Given the description of an element on the screen output the (x, y) to click on. 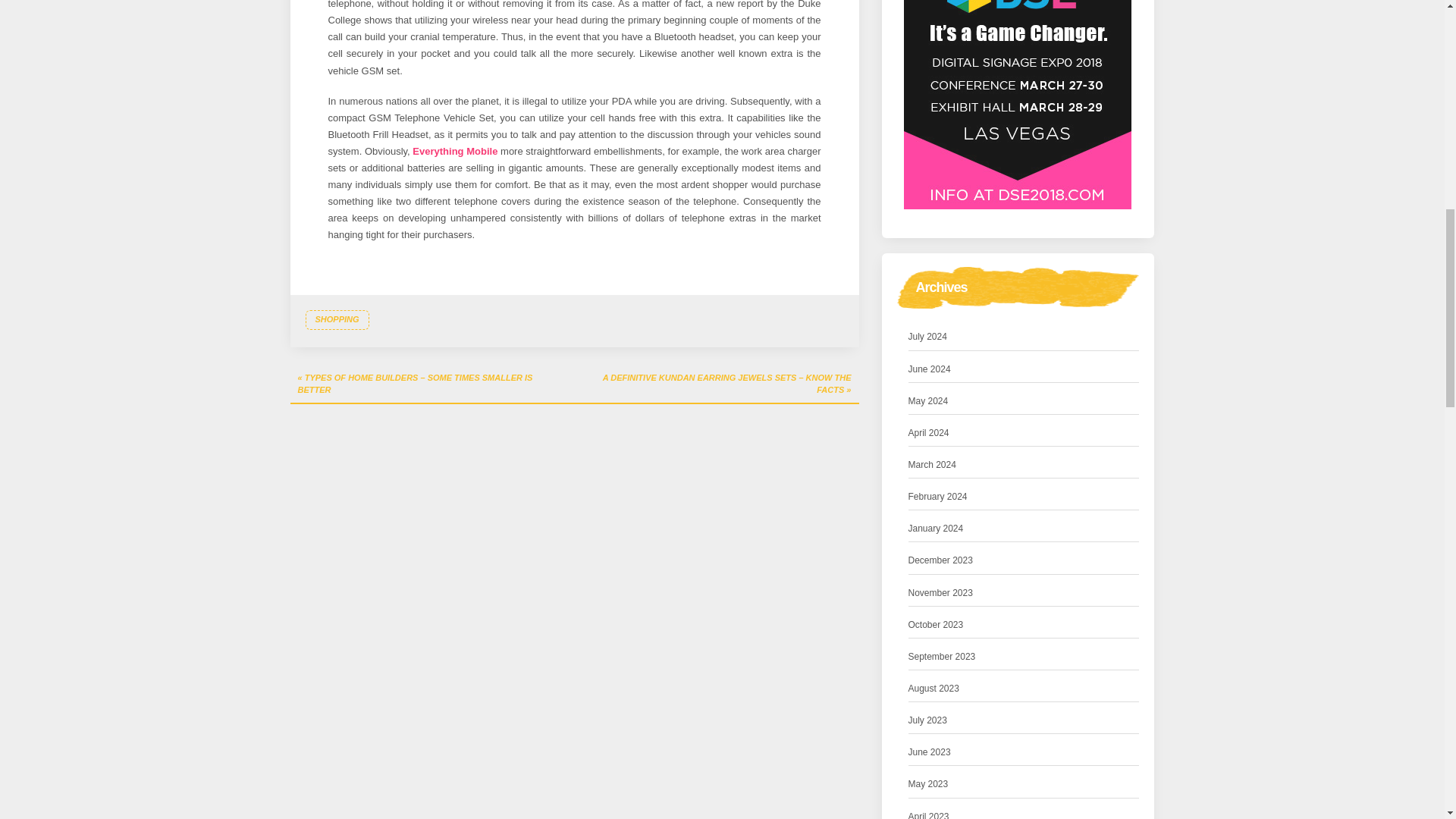
December 2023 (940, 560)
July 2023 (927, 720)
August 2023 (933, 688)
May 2024 (928, 401)
June 2023 (929, 752)
March 2024 (932, 465)
April 2024 (928, 433)
June 2024 (929, 369)
January 2024 (935, 528)
October 2023 (935, 625)
